Given the description of an element on the screen output the (x, y) to click on. 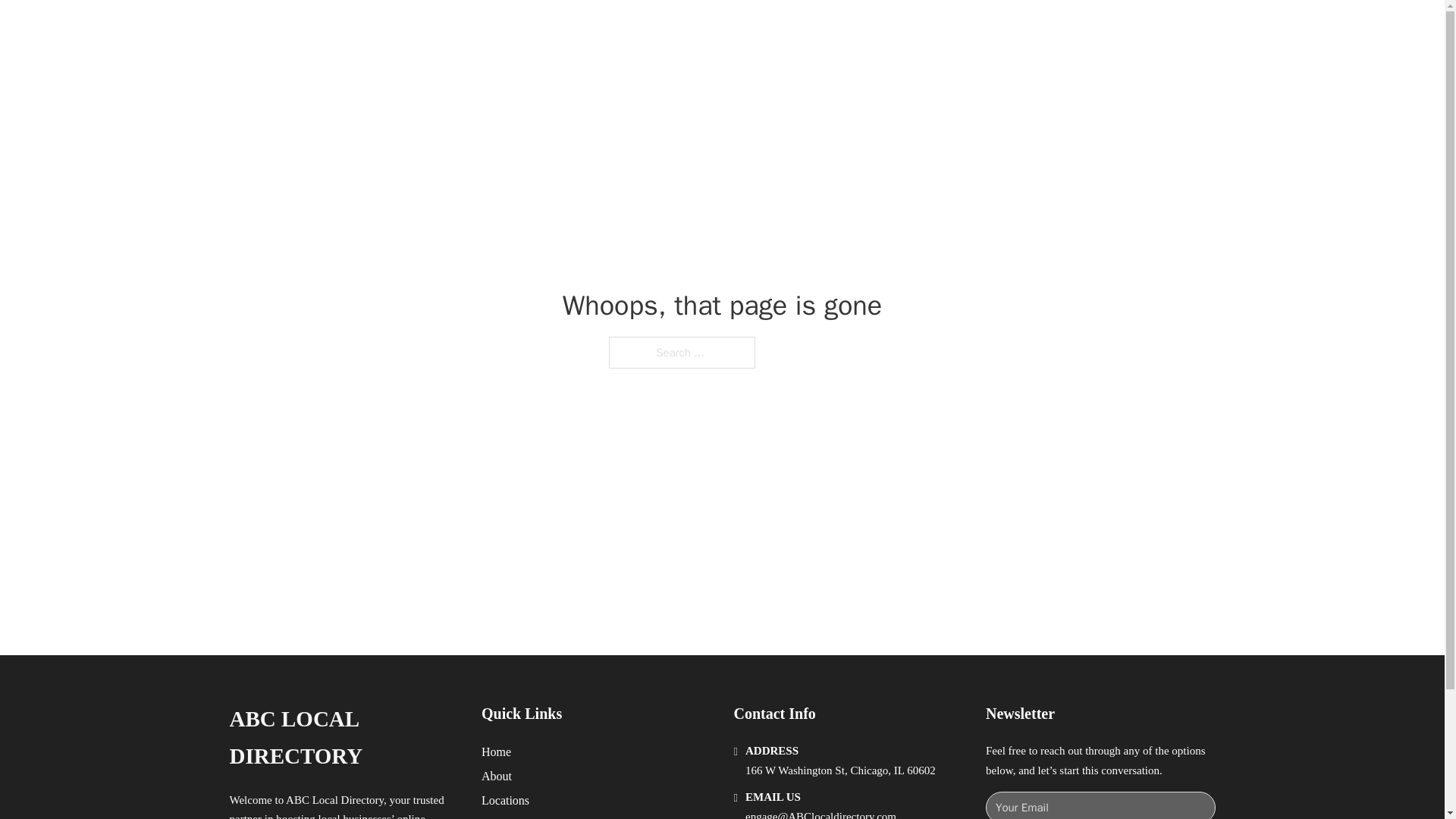
Home (496, 752)
Locations (505, 800)
About (496, 775)
ABC LOCAL DIRECTORY (425, 28)
HOME (919, 29)
LOCATIONS (990, 29)
Contact (500, 816)
ABC LOCAL DIRECTORY (343, 738)
